Given the description of an element on the screen output the (x, y) to click on. 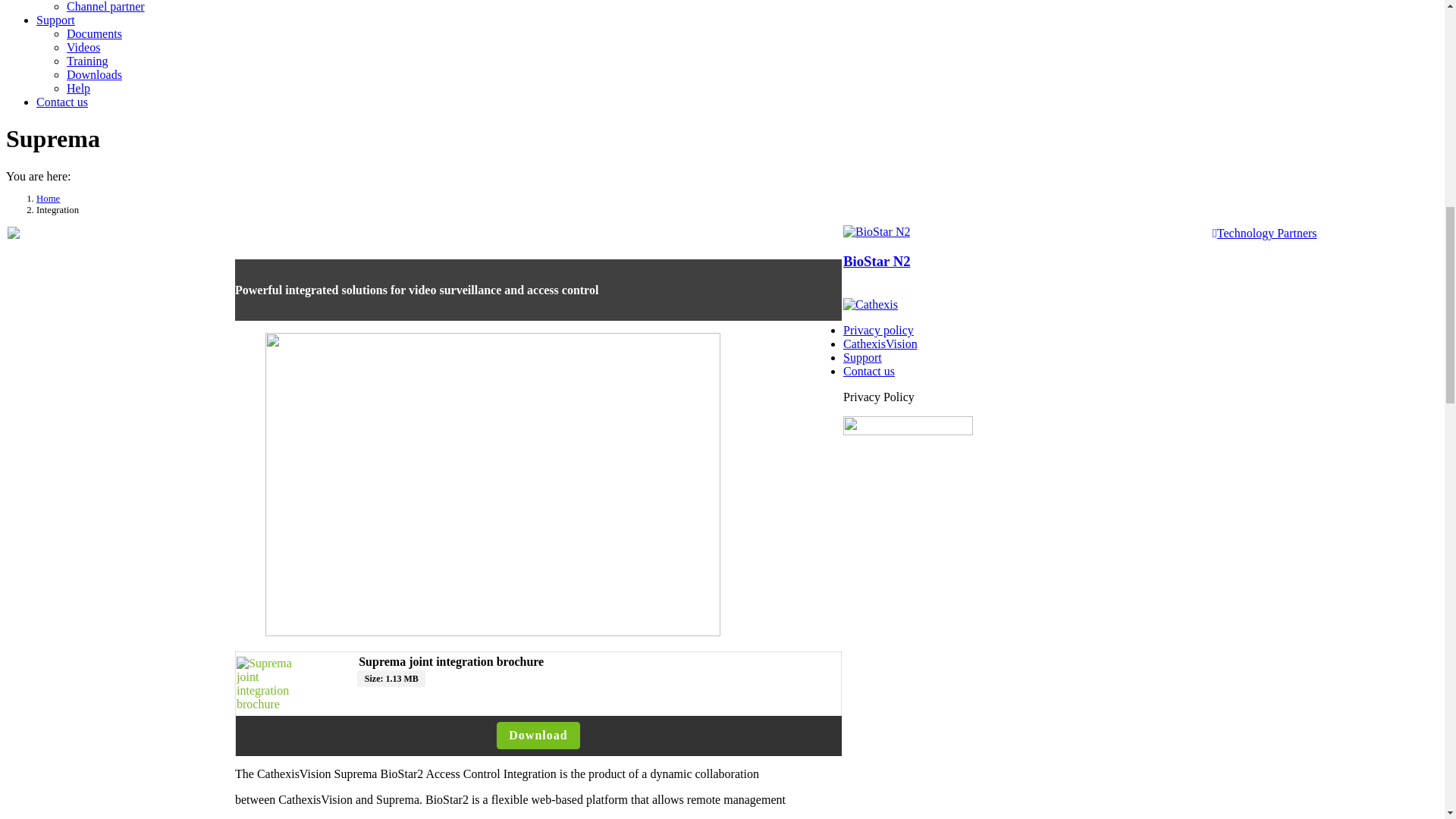
Home (47, 198)
